Given the description of an element on the screen output the (x, y) to click on. 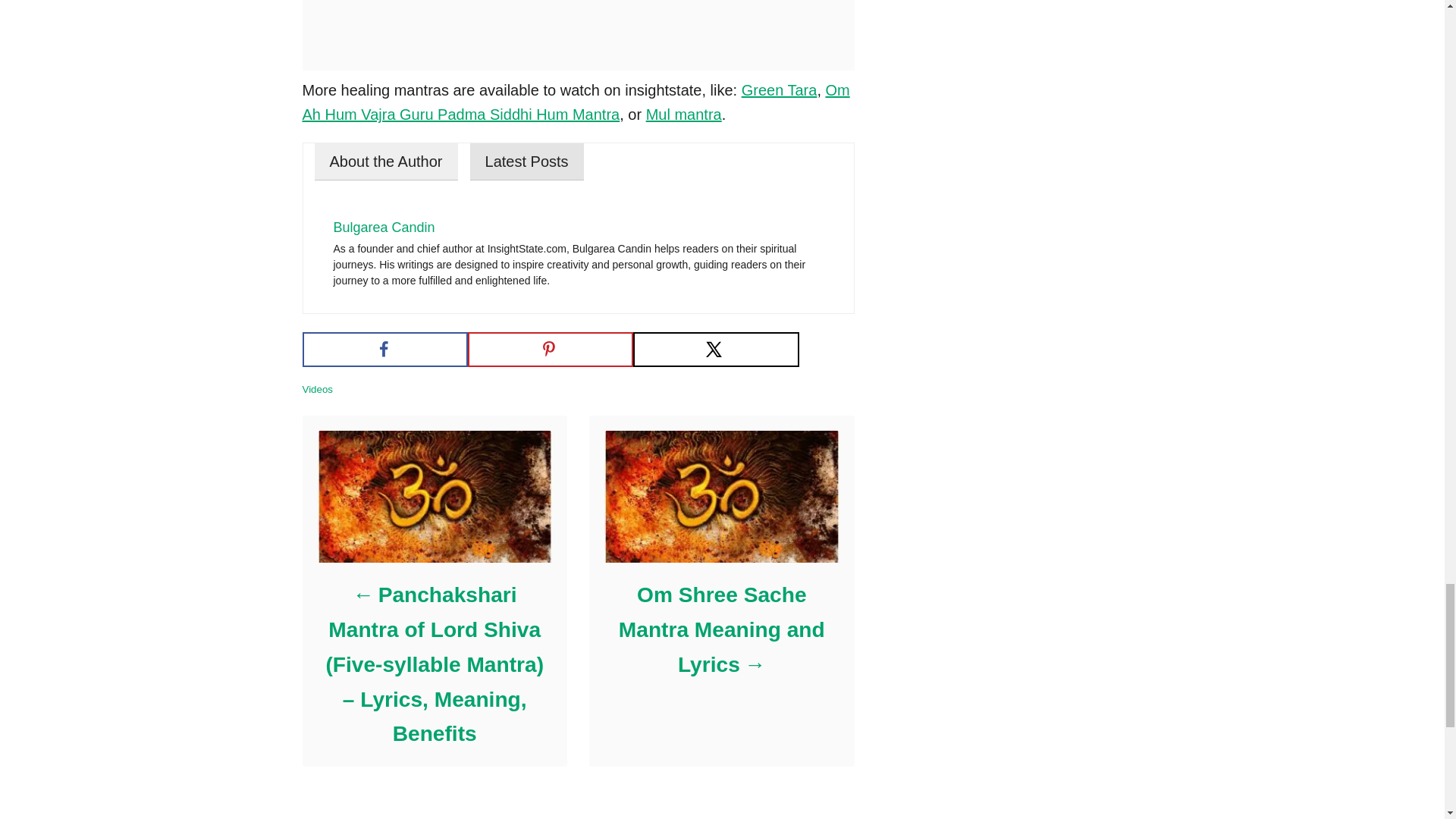
Om Shree Sache Mantra Meaning and Lyrics (721, 629)
Share on X (715, 349)
Share on Facebook (384, 349)
Green Tara (778, 89)
Mul mantra (684, 114)
Om Ah Hum Vajra Guru Padma Siddhi Hum Mantra (574, 102)
Videos (317, 389)
Save to Pinterest (550, 349)
Bulgarea Candin (384, 227)
